Given the description of an element on the screen output the (x, y) to click on. 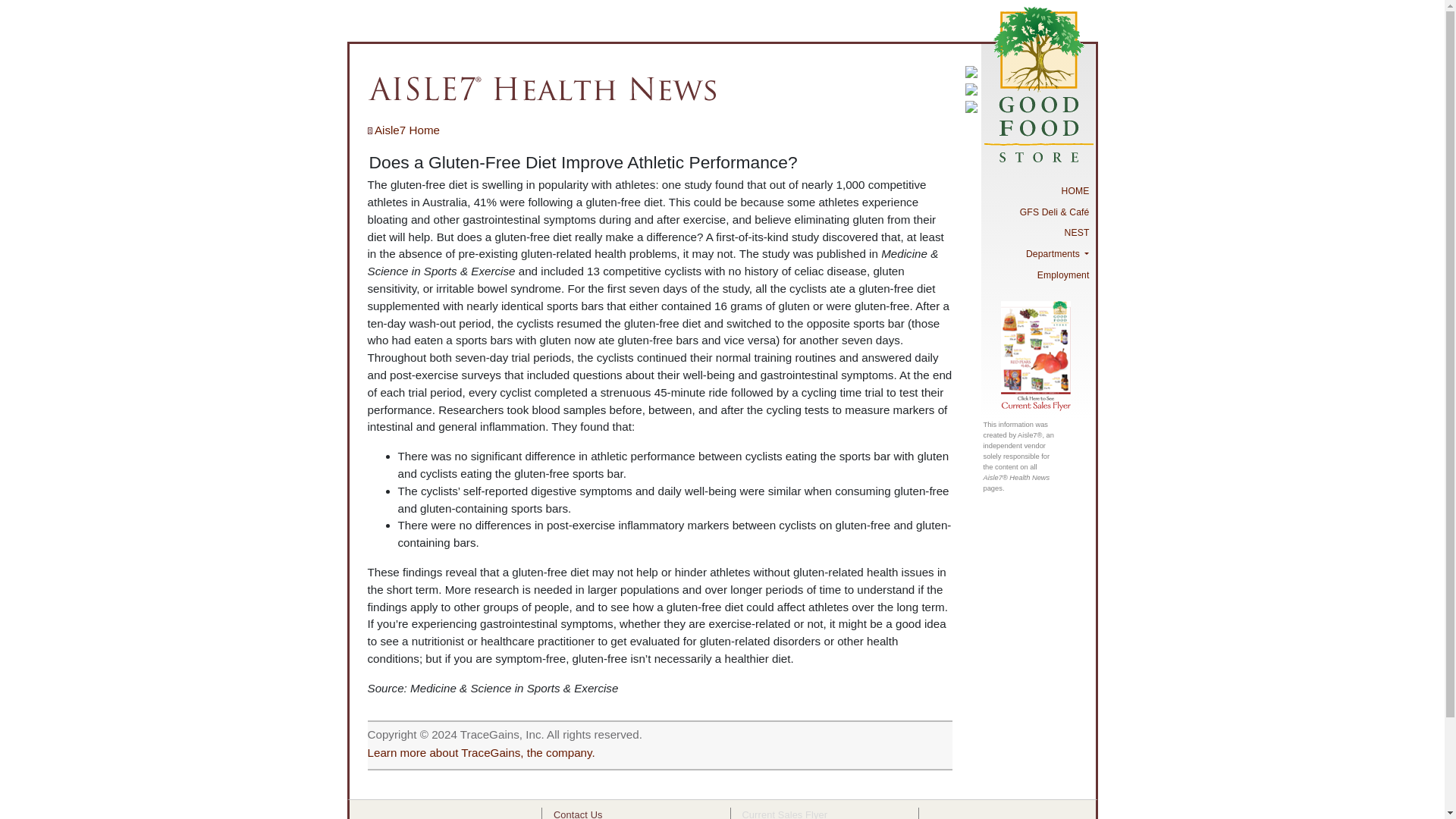
Current Sales Flyer (784, 814)
Learn more about TraceGains, the company. (480, 752)
Employment (1037, 274)
HOME (1037, 190)
NEST (1037, 233)
Departments (1037, 253)
Contact Us (577, 814)
Aisle7 Home (402, 129)
